Given the description of an element on the screen output the (x, y) to click on. 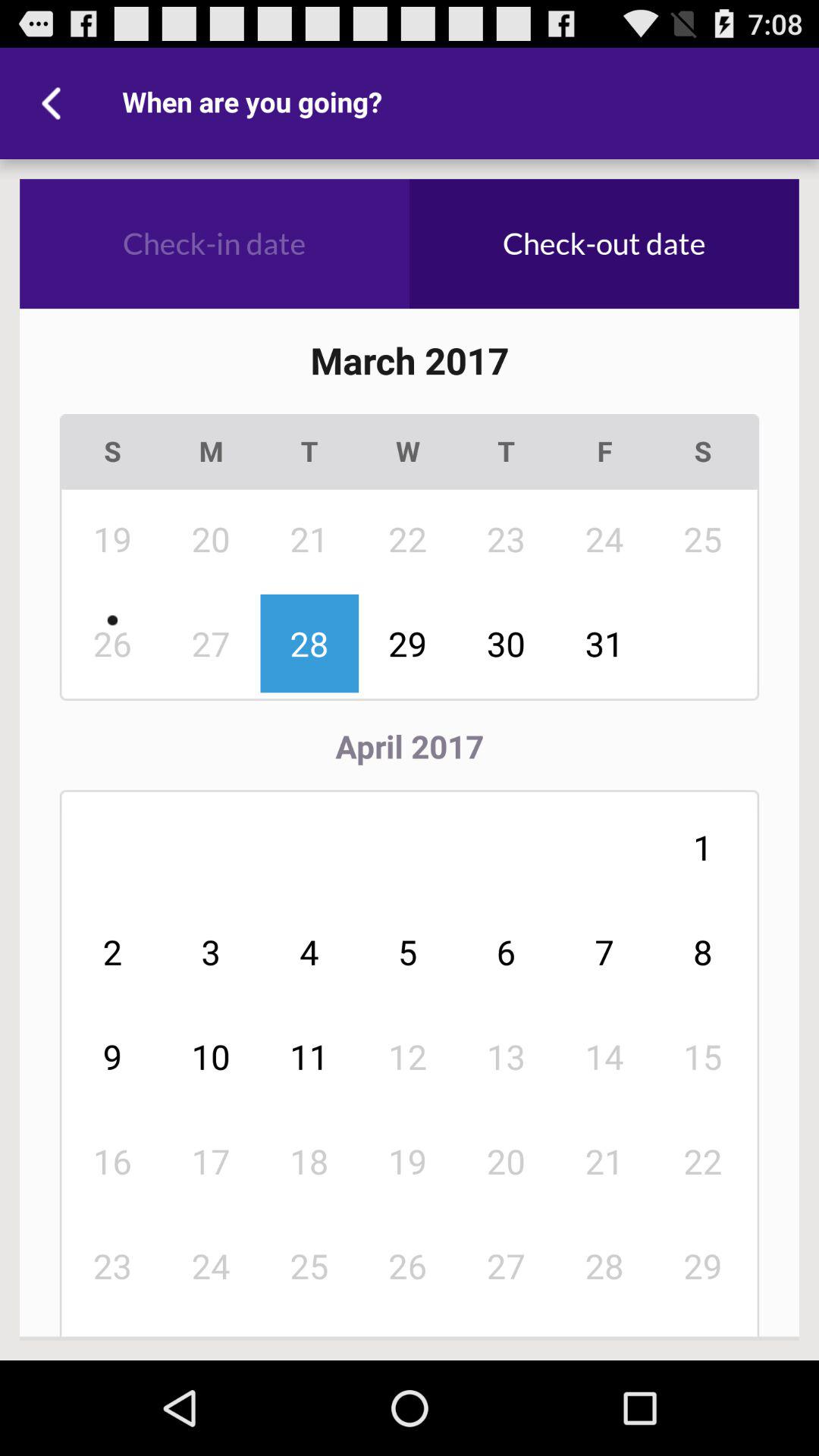
choose the icon next to when are you icon (55, 103)
